Given the description of an element on the screen output the (x, y) to click on. 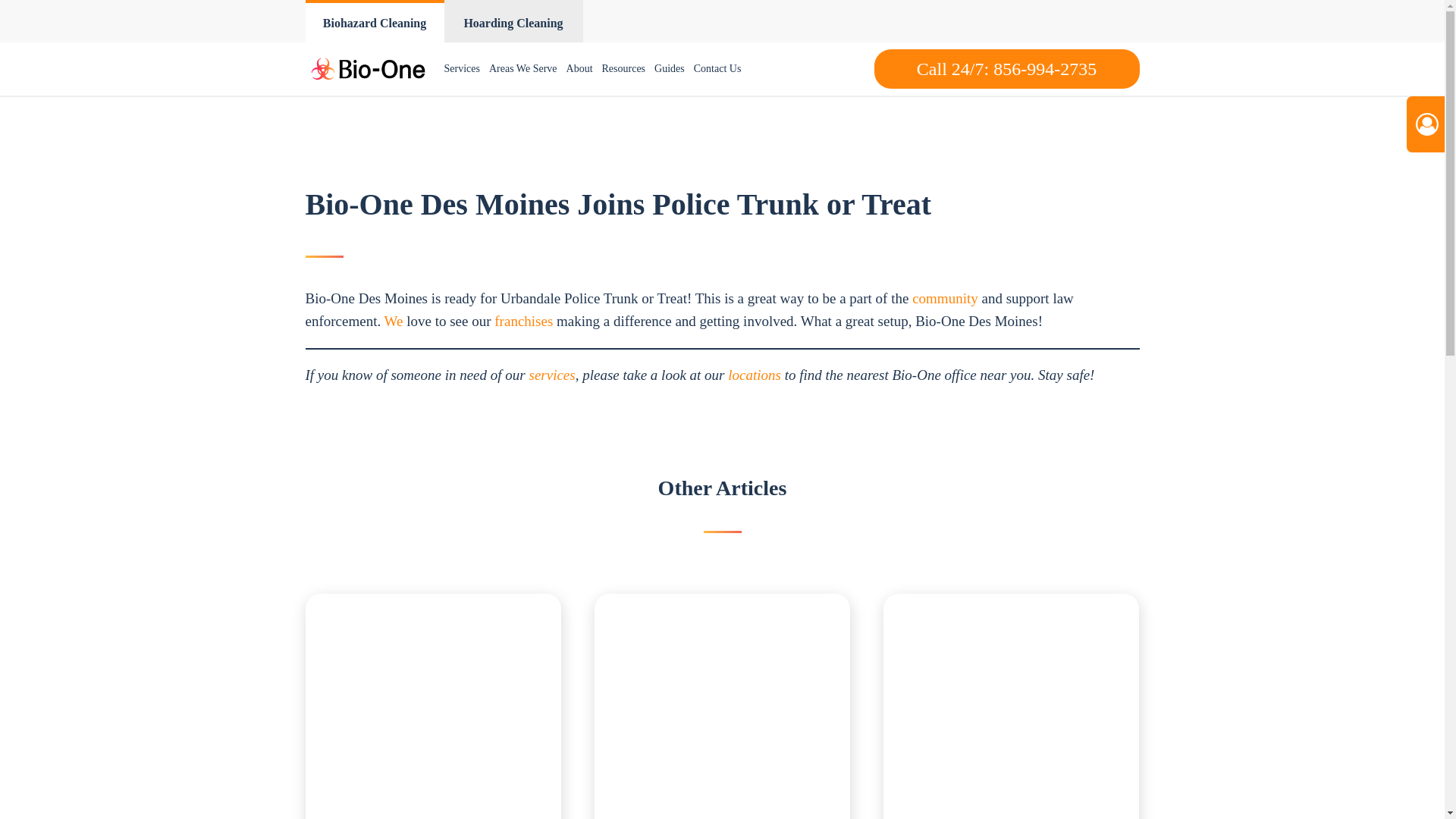
Biohazard Cleaning (374, 21)
Hoarding Cleaning (513, 21)
Resources (623, 68)
Areas We Serve (523, 68)
Contact Us (716, 68)
Services (461, 68)
